Given the description of an element on the screen output the (x, y) to click on. 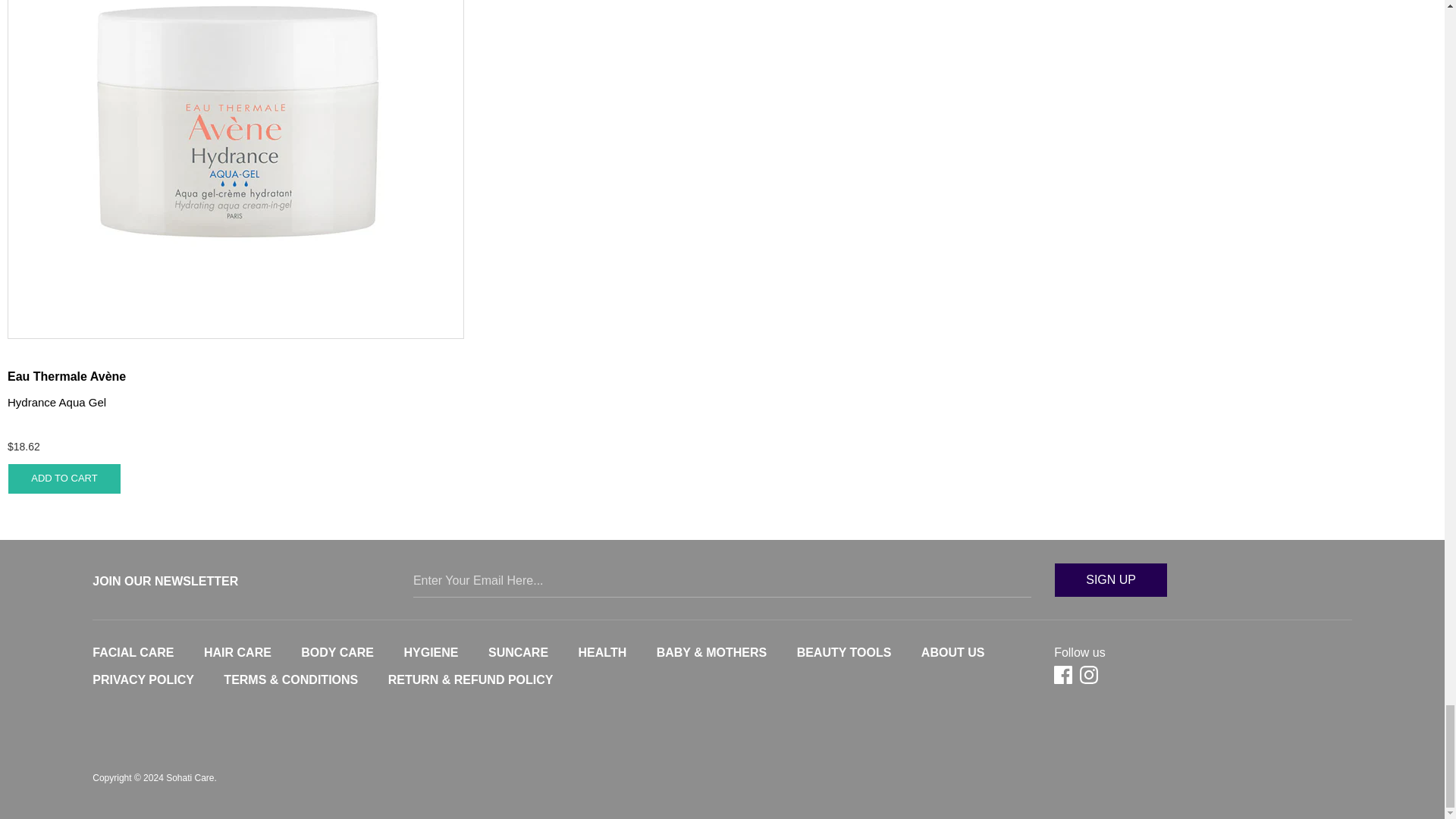
Facebook (1064, 674)
Instagram (1090, 674)
